Given the description of an element on the screen output the (x, y) to click on. 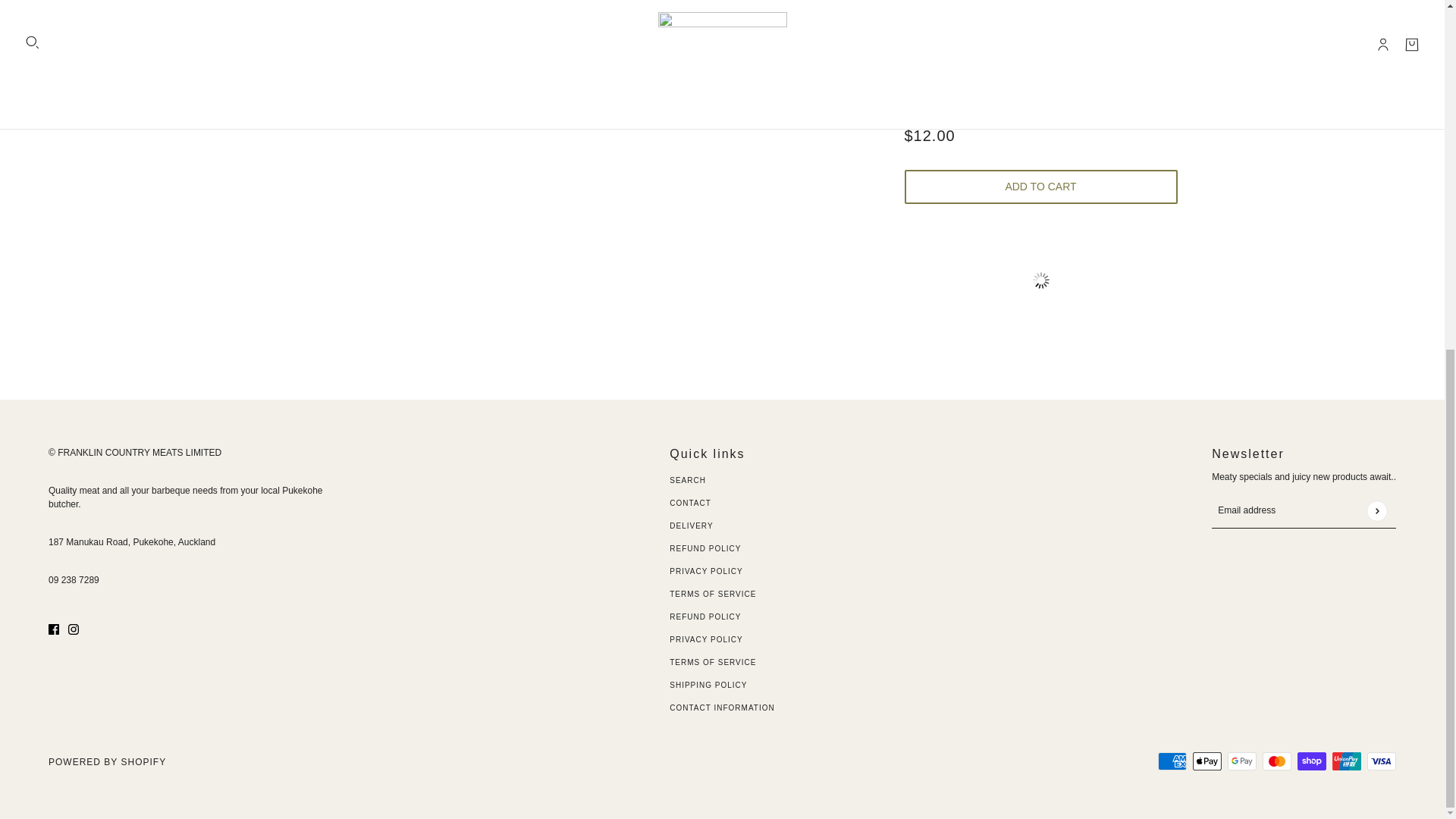
Delivery (691, 525)
Contact information (721, 707)
Terms of service (712, 662)
Privacy Policy (705, 571)
Refund Policy (705, 548)
Refund policy (705, 616)
Contact (690, 502)
Shipping policy (707, 684)
Privacy policy (705, 639)
Terms of Service (712, 593)
